Given the description of an element on the screen output the (x, y) to click on. 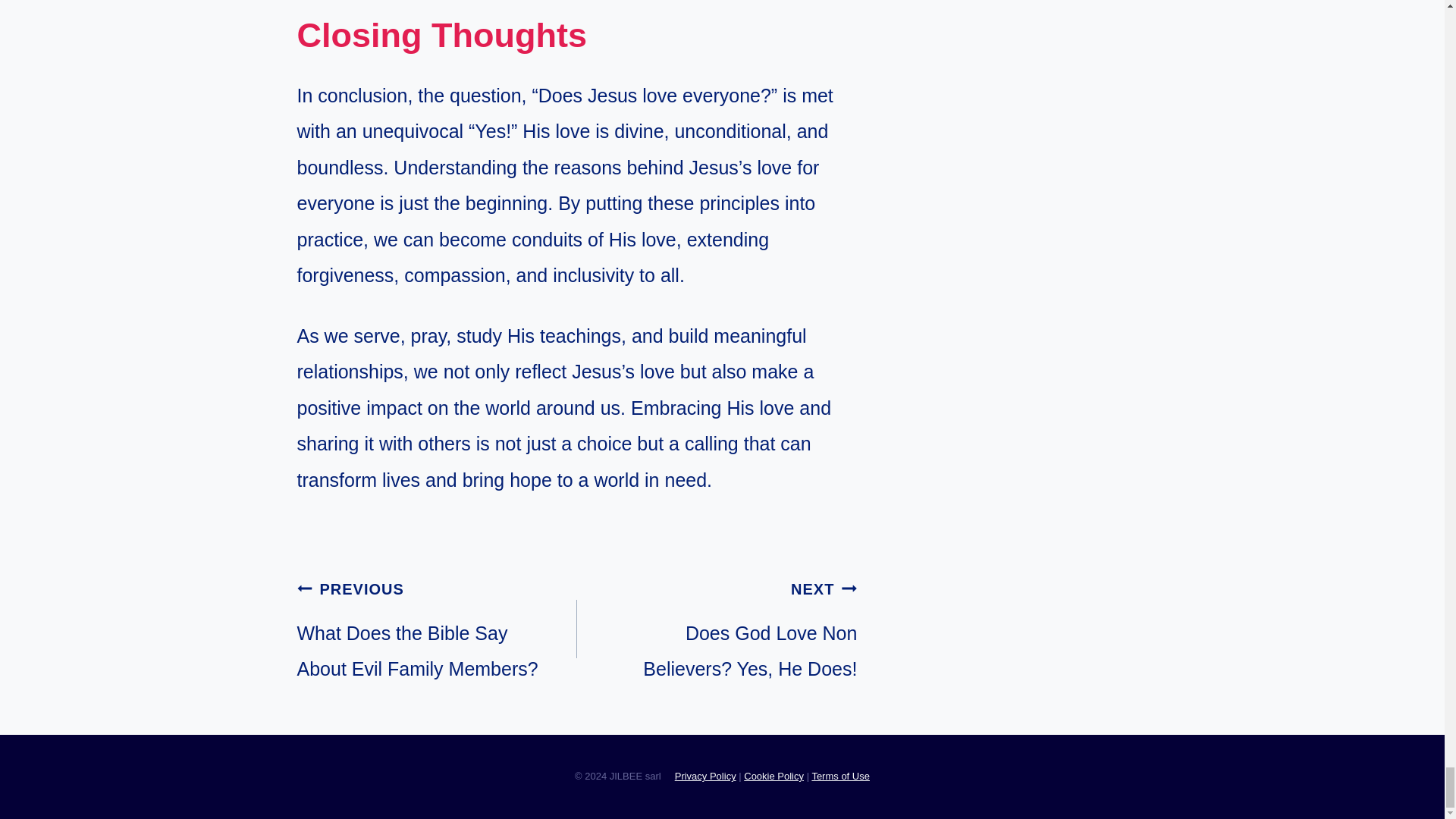
Cookie Policy (773, 776)
Privacy Policy (716, 628)
Terms of Use (705, 776)
